Given the description of an element on the screen output the (x, y) to click on. 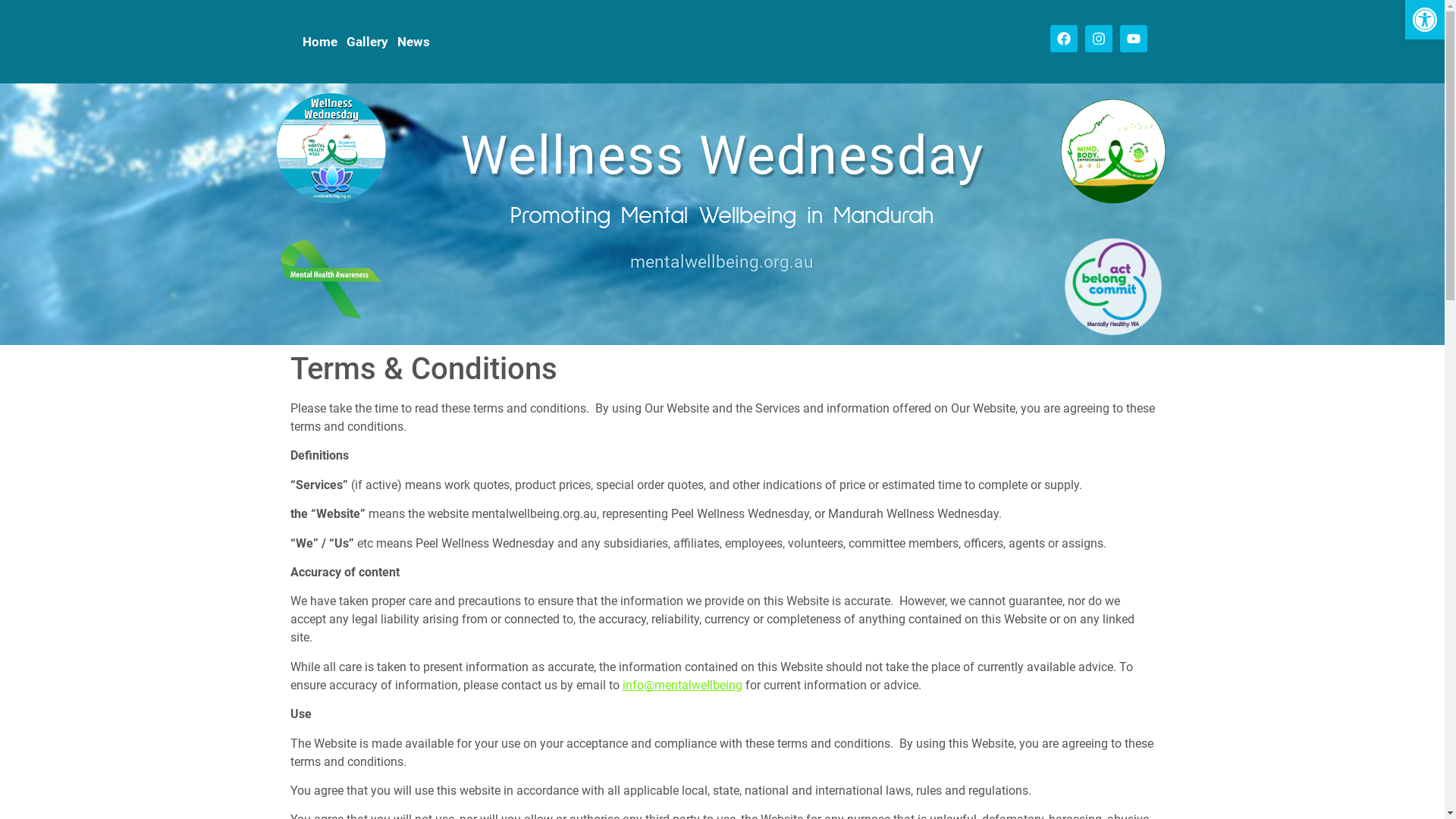
Wellness Wednesday Element type: text (722, 155)
Open toolbar
Accessibility Tools Element type: text (1424, 19)
info@mentalwellbeing Element type: text (681, 684)
News Element type: text (413, 41)
Home Element type: text (319, 41)
Gallery Element type: text (366, 41)
